Given the description of an element on the screen output the (x, y) to click on. 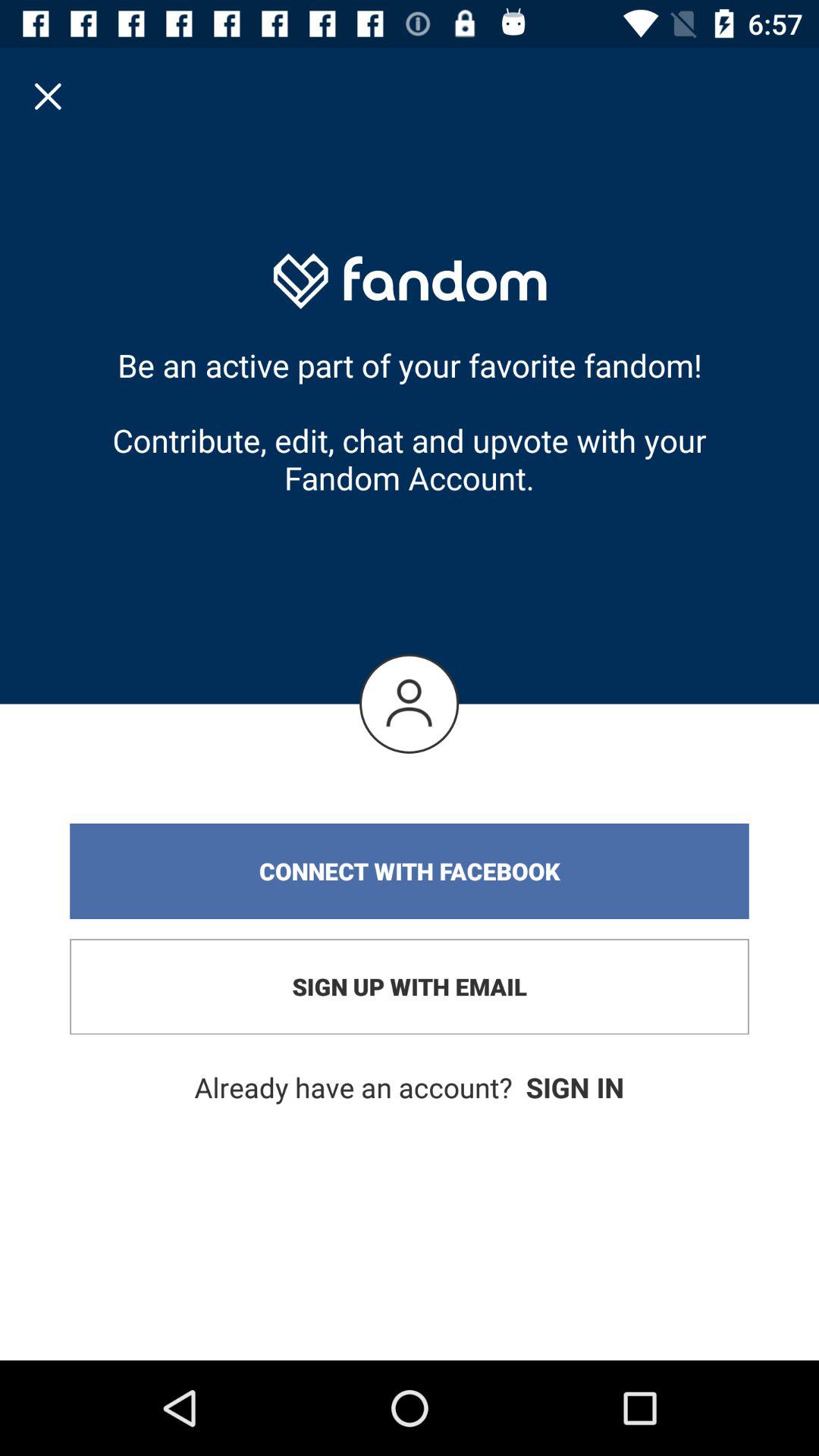
launch icon at the top left corner (47, 95)
